Given the description of an element on the screen output the (x, y) to click on. 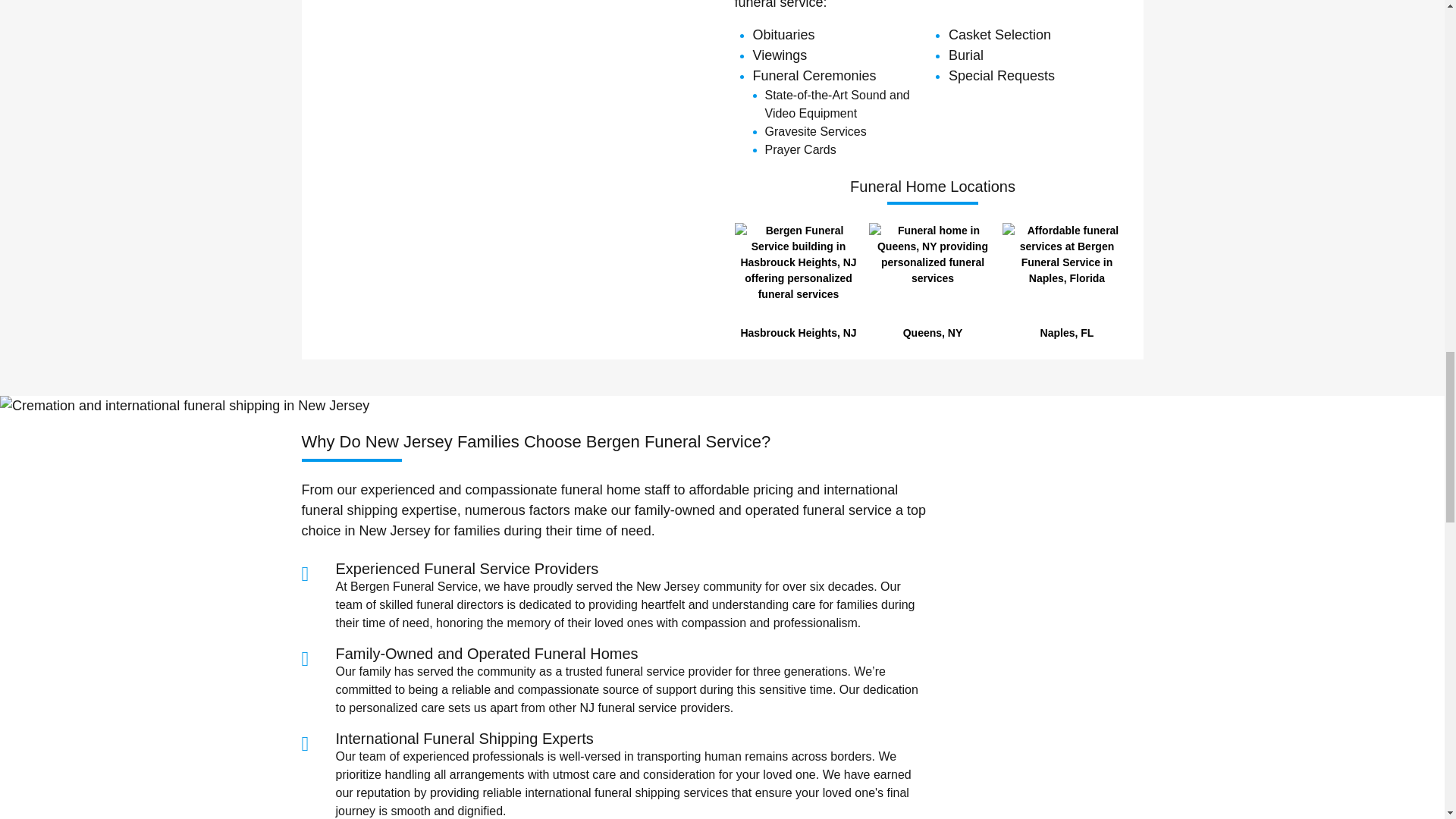
Queens, NY (933, 280)
Bergen Funeral Service location in Naples, FL (1067, 270)
Hasbrouck Heights, NJ (799, 280)
Queens, New York Funeral Home - Bergen Funeral Service (933, 270)
Naples, FL (1067, 280)
